Given the description of an element on the screen output the (x, y) to click on. 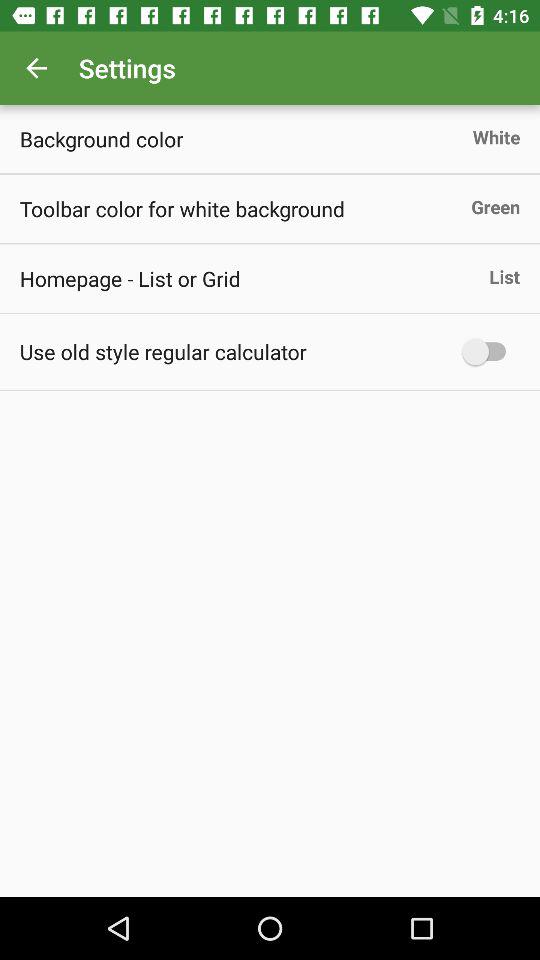
select icon next to green icon (182, 208)
